Given the description of an element on the screen output the (x, y) to click on. 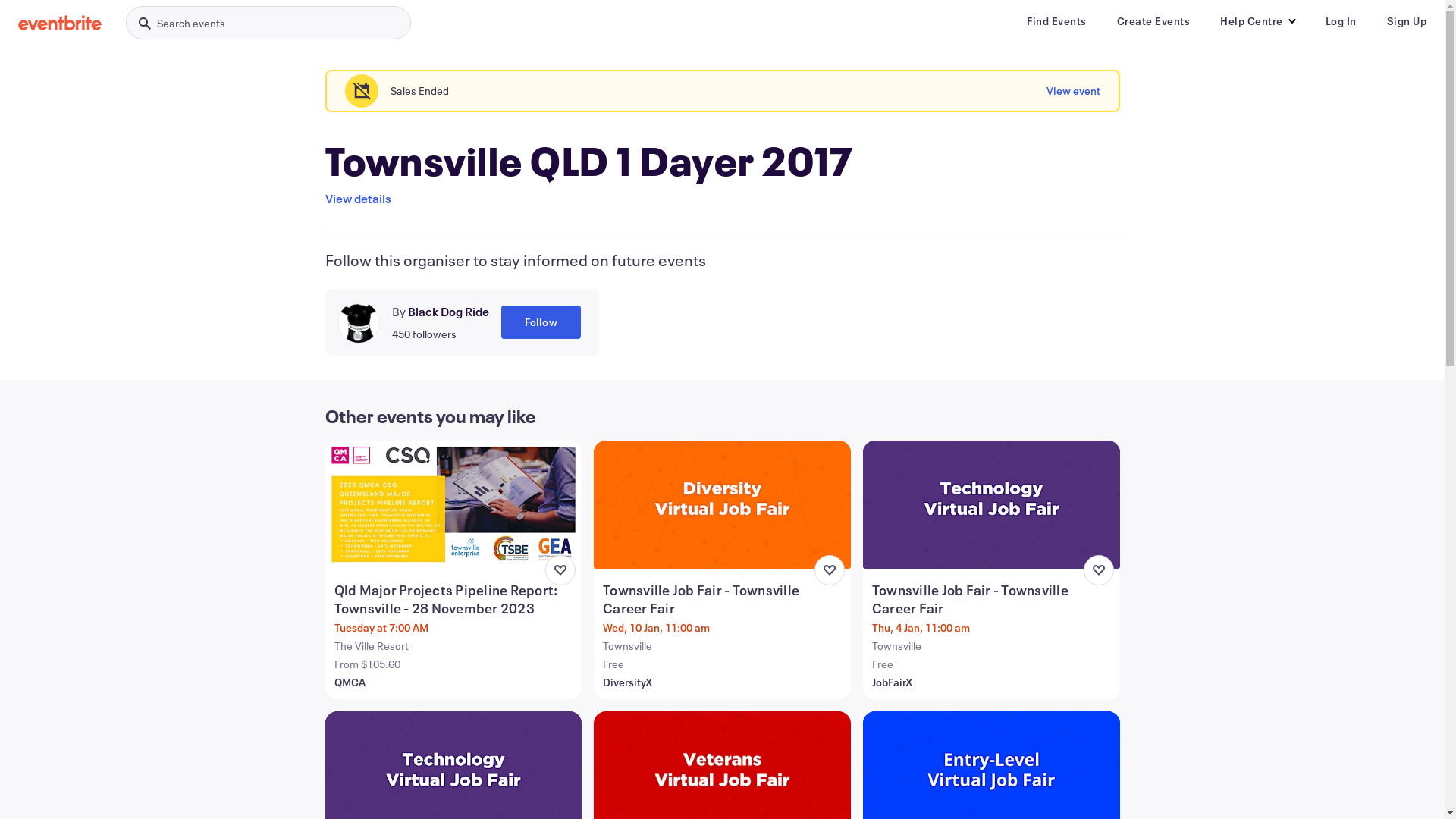
Create Events Element type: text (1152, 21)
Sign Up Element type: text (1406, 21)
View event Element type: text (1073, 90)
Search events Element type: text (268, 22)
Follow Element type: text (540, 321)
Find Events Element type: text (1056, 21)
View details Element type: text (357, 198)
Log In Element type: text (1340, 21)
Eventbrite Element type: hover (59, 22)
Townsville Job Fair - Townsville Career Fair Element type: text (992, 598)
Townsville Job Fair - Townsville Career Fair Element type: text (723, 598)
